Given the description of an element on the screen output the (x, y) to click on. 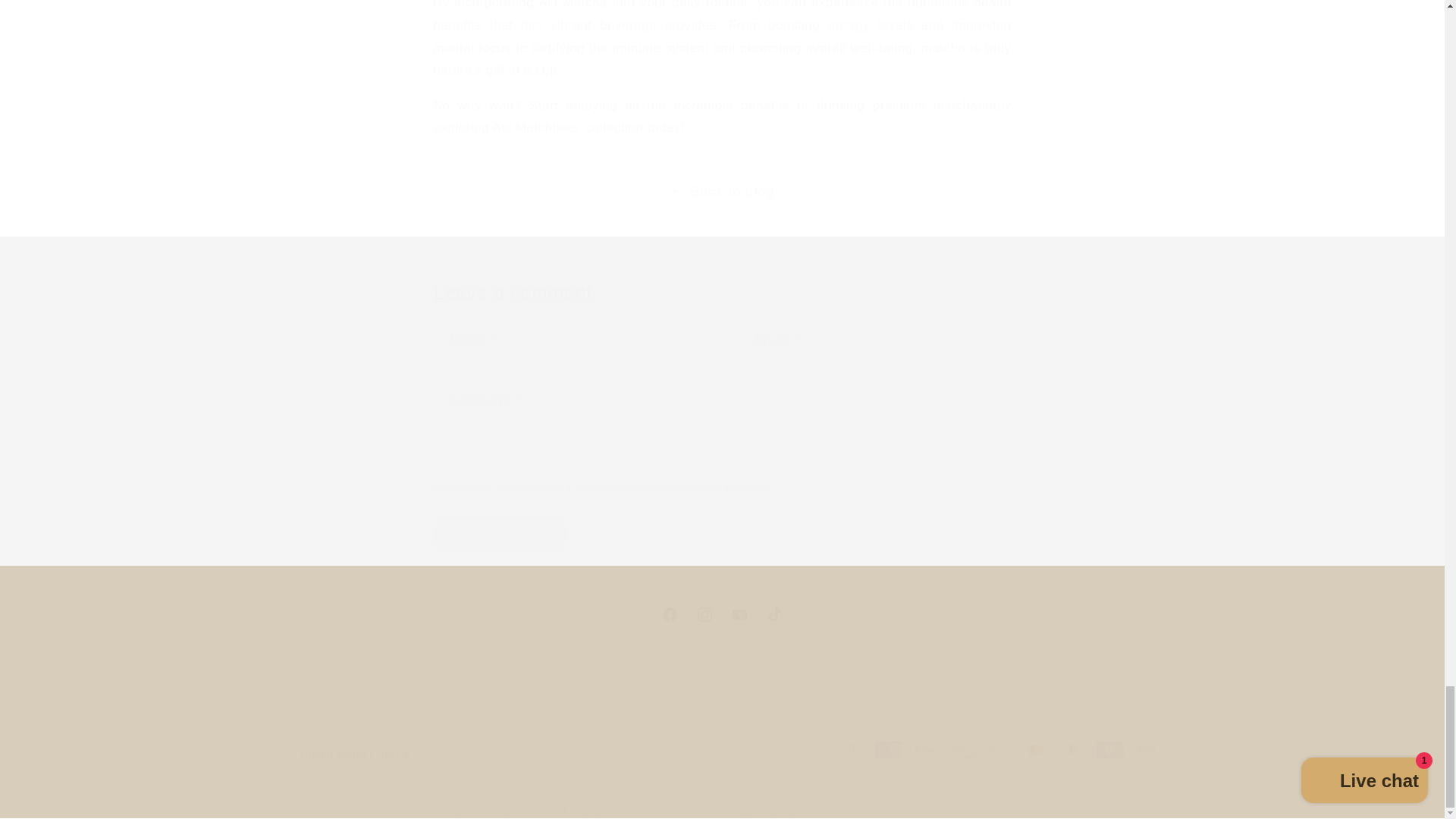
Post comment (499, 533)
